Given the description of an element on the screen output the (x, y) to click on. 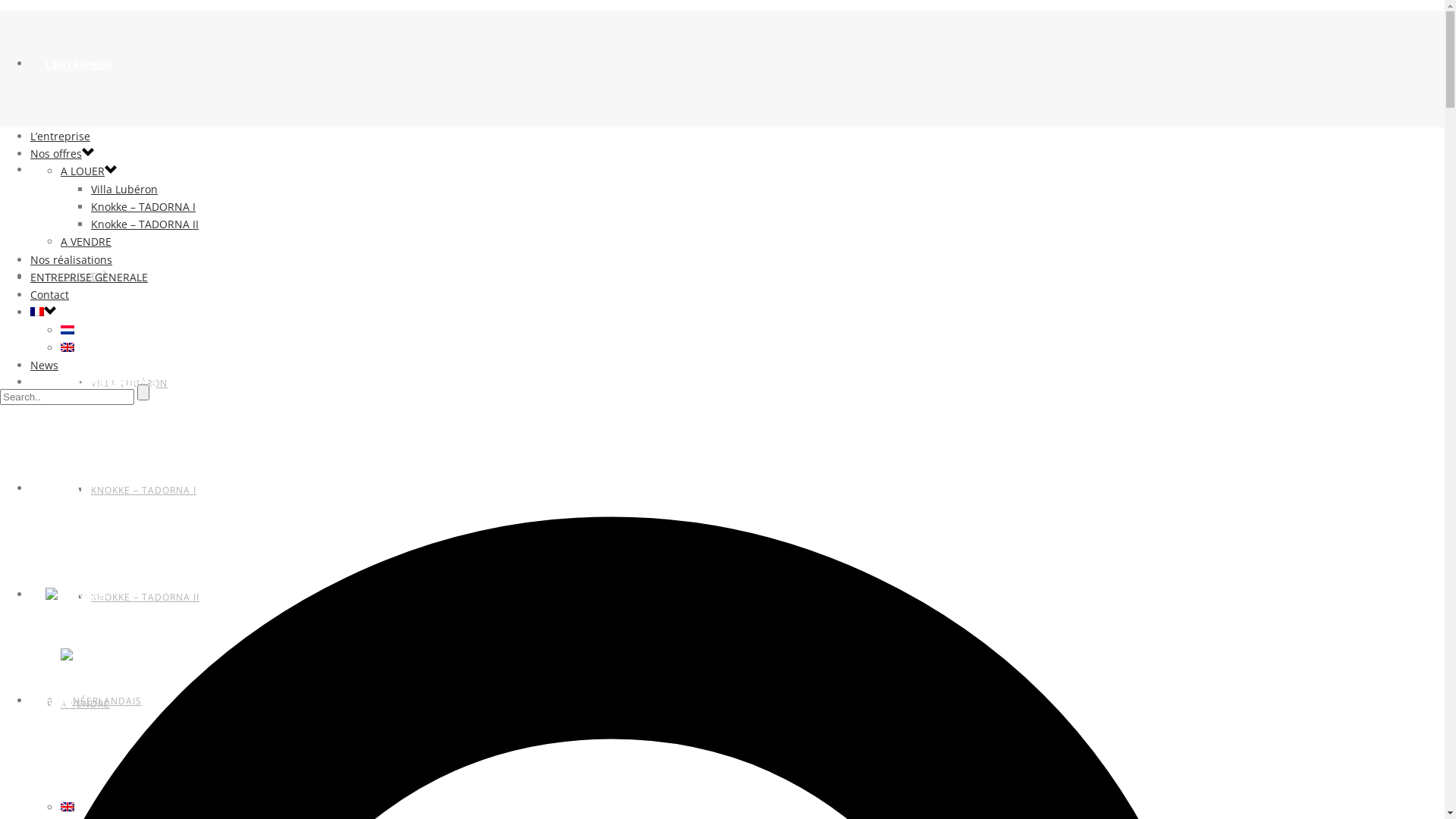
A VENDRE Element type: text (84, 703)
Contact Element type: text (49, 294)
A VENDRE Element type: text (85, 241)
Nos offres Element type: text (55, 153)
CONTACT Element type: text (68, 488)
ENTREPRISE GENERALE Element type: text (100, 382)
A LOUER Element type: text (82, 170)
NOS OFFRES Element type: text (74, 170)
ENTREPRISE GENERALE Element type: text (88, 276)
News Element type: text (44, 364)
A LOUER Element type: text (81, 275)
NEWS Element type: text (59, 701)
